Given the description of an element on the screen output the (x, y) to click on. 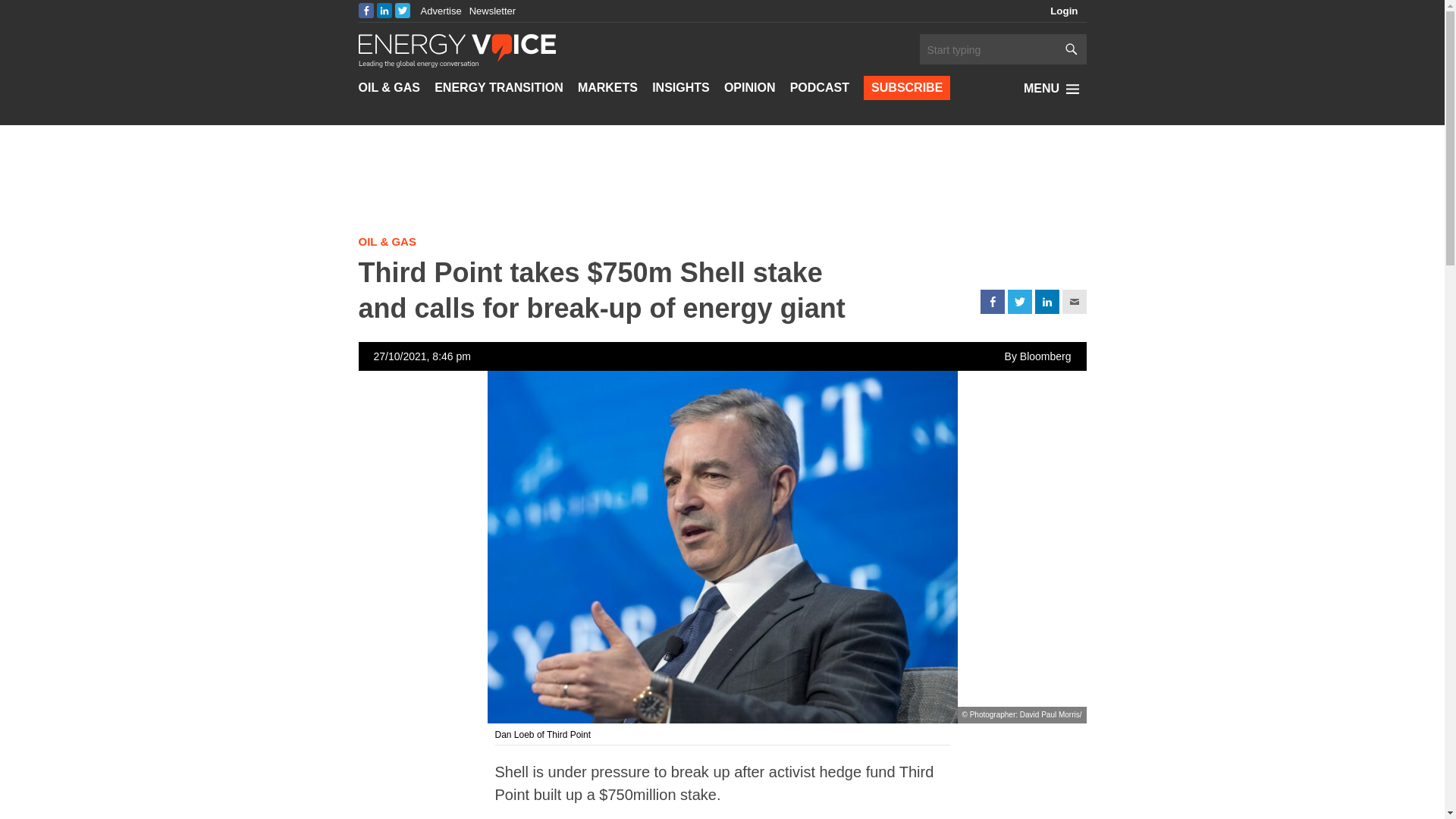
Facebook (365, 10)
Energy Voice (456, 49)
Email (1073, 301)
ENERGY TRANSITION (498, 87)
Facebook (991, 301)
Search (987, 50)
Login (1064, 11)
Advertise (440, 11)
LinkedIn (383, 10)
MENU (1054, 87)
